Given the description of an element on the screen output the (x, y) to click on. 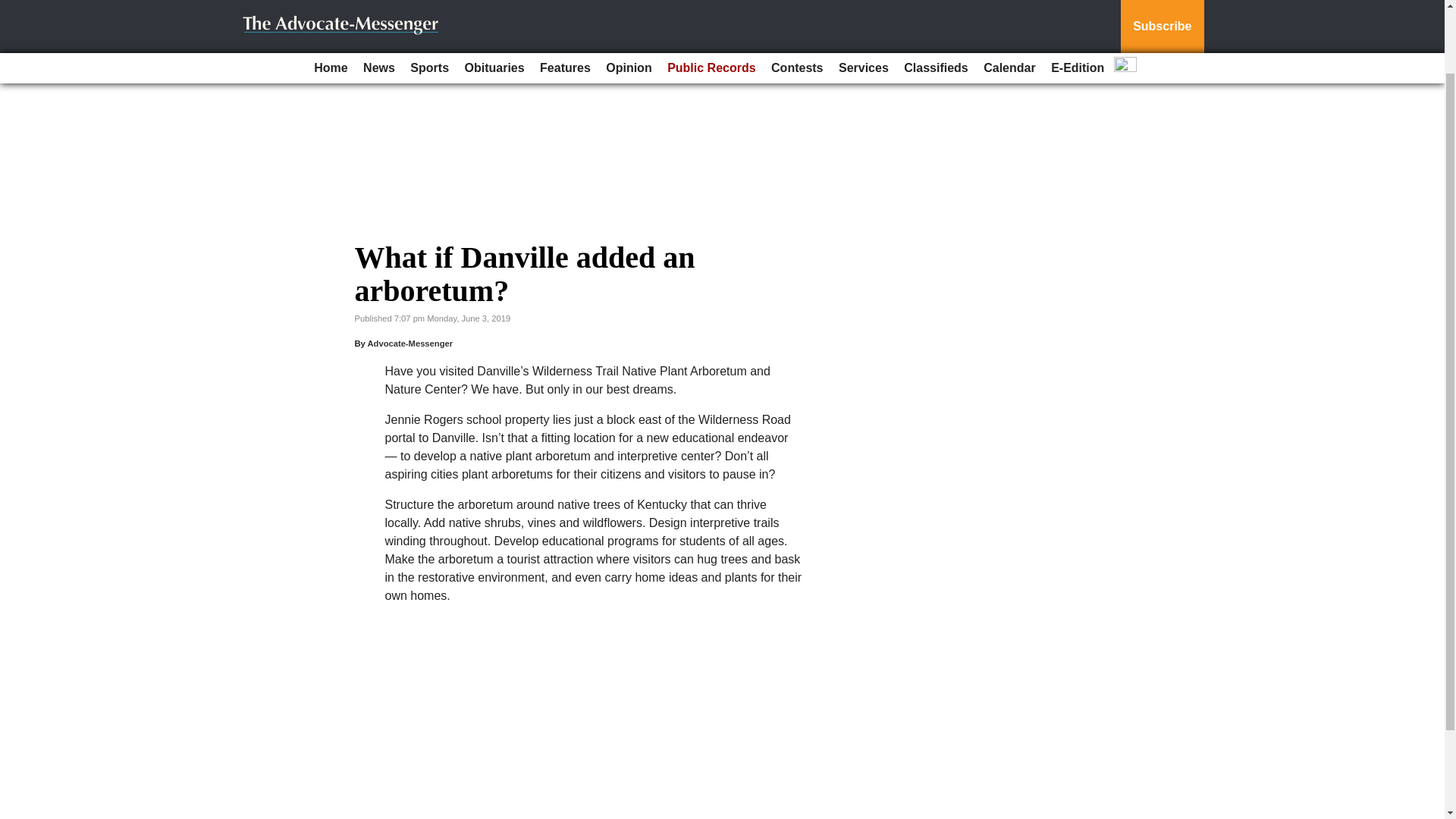
Calendar (1008, 2)
Public Records (711, 2)
Services (863, 2)
Sports (429, 2)
Contests (796, 2)
E-Edition (1077, 2)
Home (330, 2)
Obituaries (493, 2)
News (378, 2)
Opinion (628, 2)
